Given the description of an element on the screen output the (x, y) to click on. 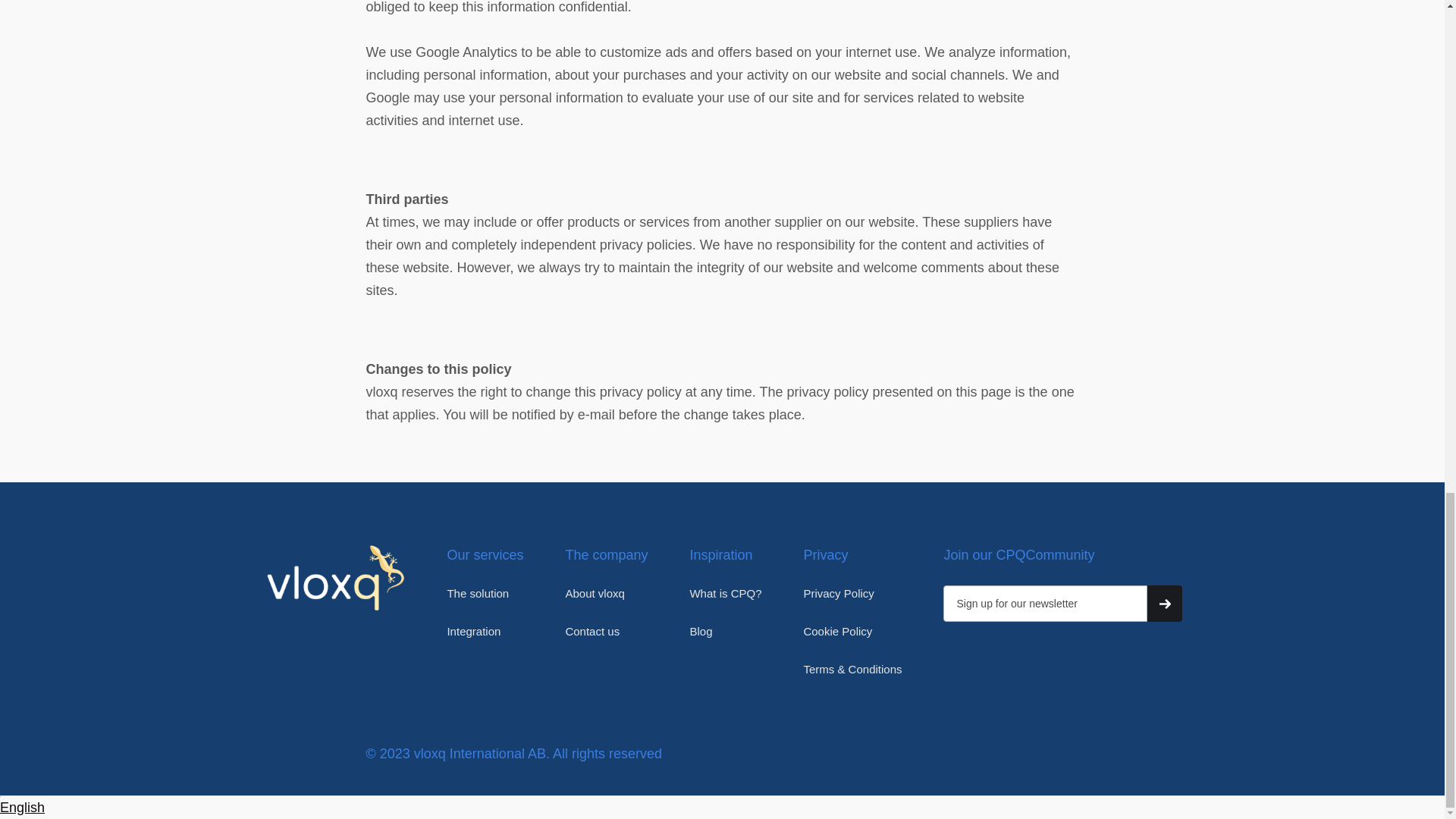
Integration (473, 630)
Contact us (592, 630)
What is CPQ? (724, 593)
Cookie Policy (837, 630)
Blog (699, 630)
Privacy Policy (838, 593)
About vloxq (594, 593)
English (22, 807)
The solution (477, 593)
